Given the description of an element on the screen output the (x, y) to click on. 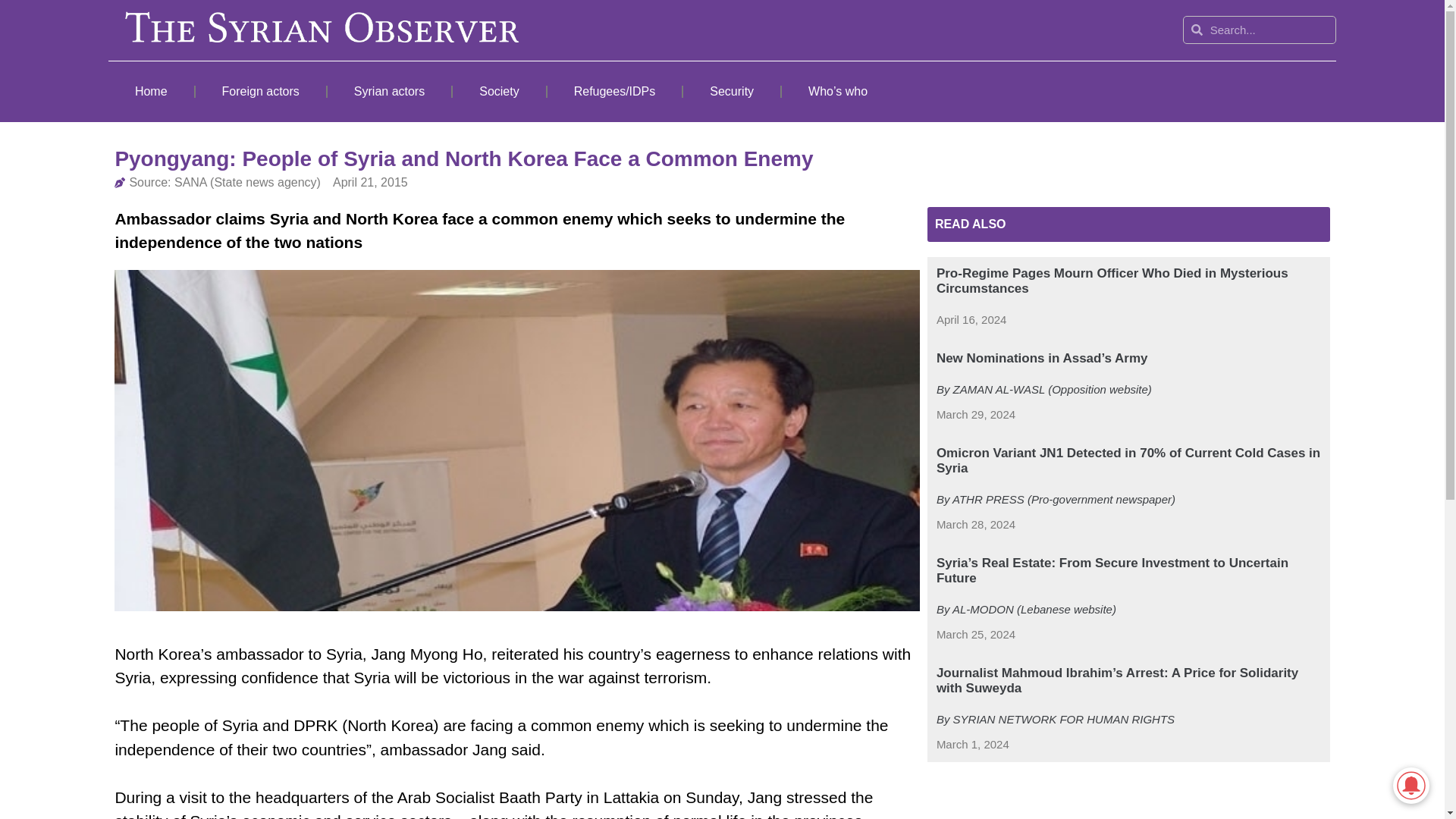
Home (150, 91)
March 28, 2024 (975, 524)
Security (731, 91)
March 25, 2024 (975, 634)
Foreign actors (260, 91)
March 1, 2024 (972, 744)
April 16, 2024 (971, 320)
Society (498, 91)
Syrian actors (389, 91)
March 29, 2024 (975, 415)
